Given the description of an element on the screen output the (x, y) to click on. 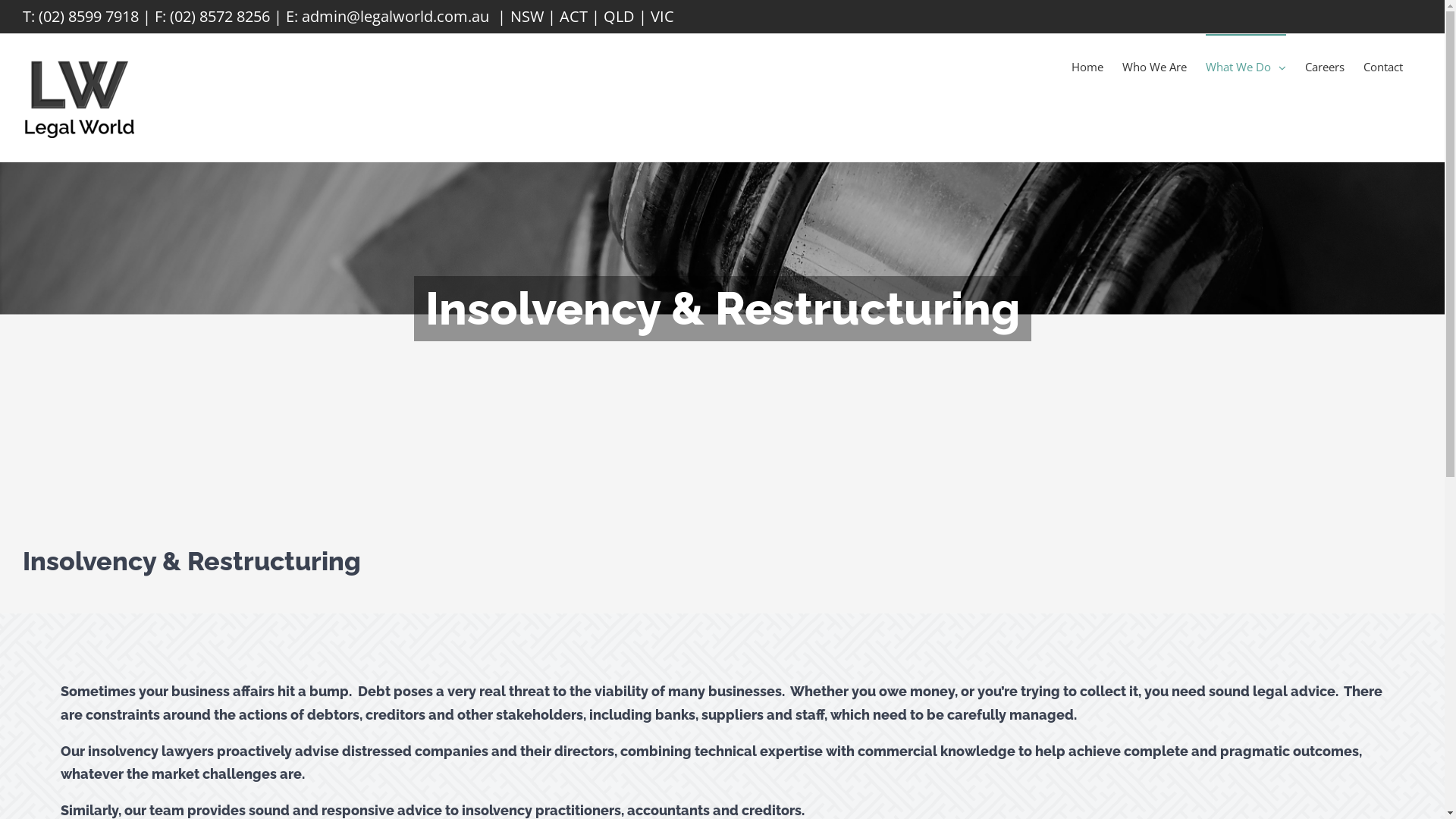
What We Do Element type: text (1245, 65)
Home Element type: text (1087, 65)
Contact Element type: text (1382, 65)
(02) 8572 8256 Element type: text (219, 16)
Careers Element type: text (1324, 65)
(02) 8599 7918 Element type: text (88, 16)
NSW | ACT | QLD | VIC Element type: text (592, 16)
Who We Are Element type: text (1154, 65)
